Given the description of an element on the screen output the (x, y) to click on. 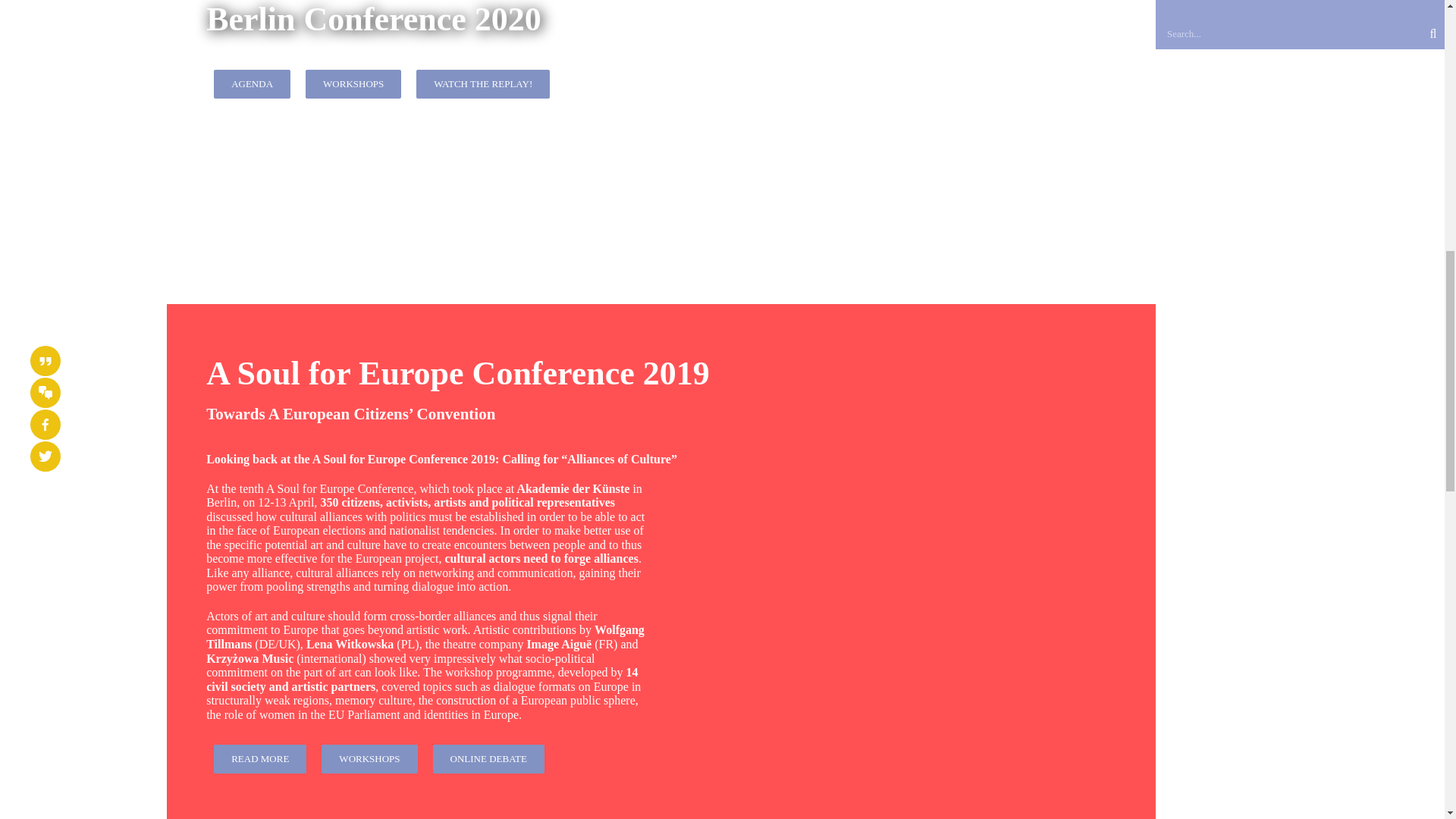
ONLINE DEBATE (488, 758)
WATCH THE REPLAY! (251, 83)
WORKSHOPS (483, 83)
WORKSHOPS (353, 83)
READ MORE (368, 758)
YouTube video player 1 (259, 758)
